Given the description of an element on the screen output the (x, y) to click on. 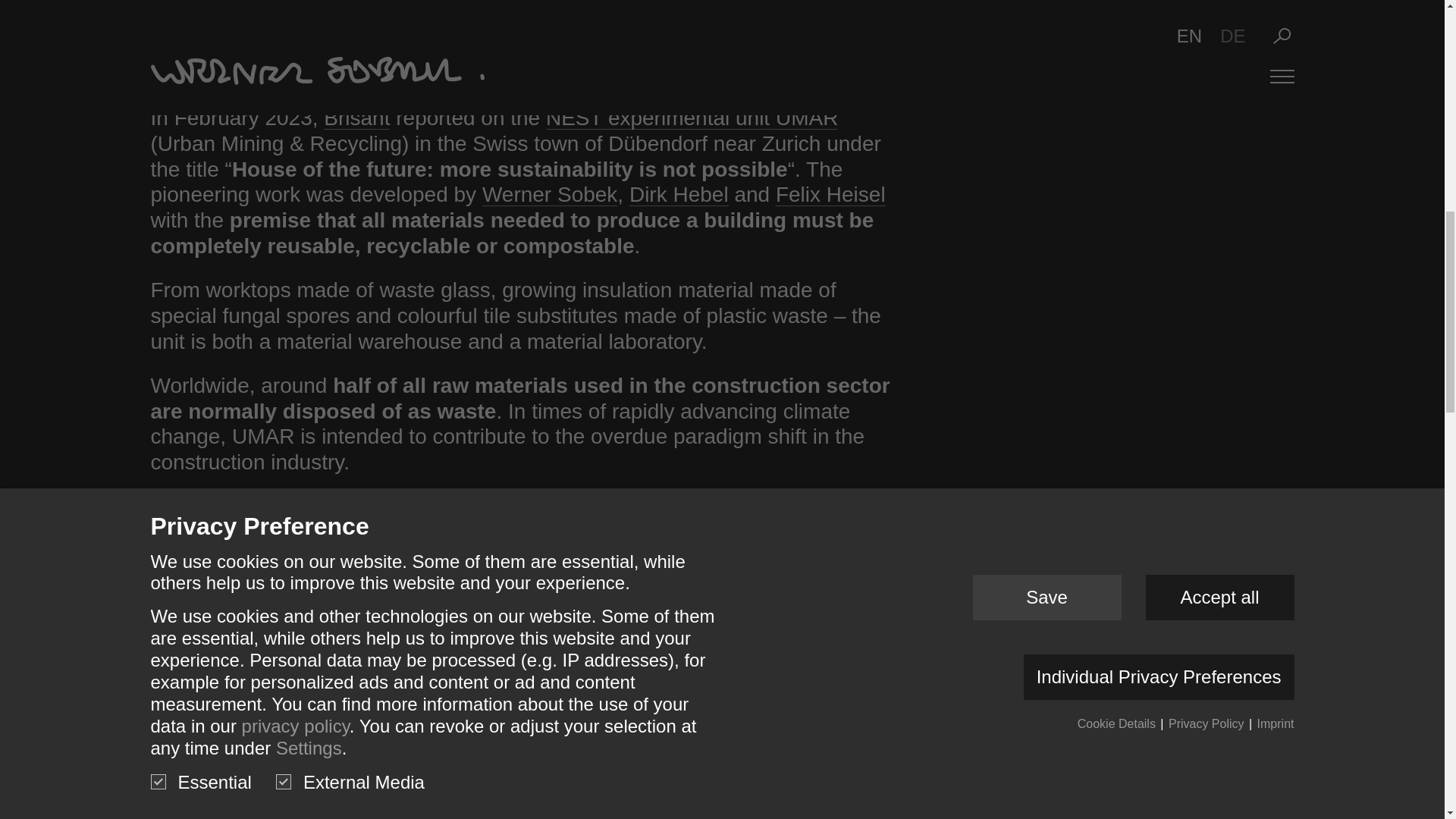
Brisant (356, 117)
Werner Sobek (549, 194)
Felix Heisel (830, 194)
NEST experimental unit UMAR (692, 117)
Dirk Hebel (678, 194)
